Given the description of an element on the screen output the (x, y) to click on. 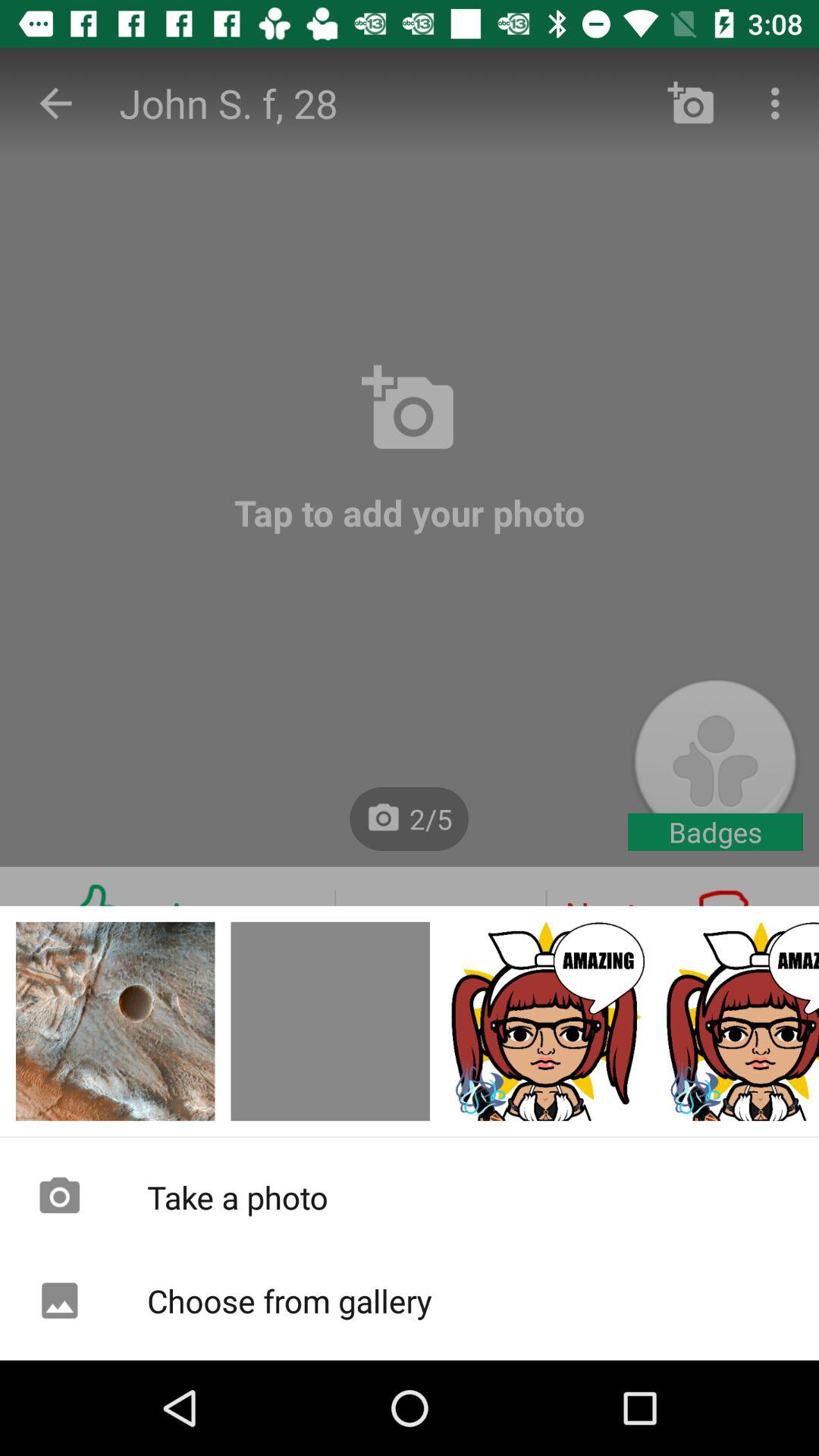
select photo from camera roll (739, 1021)
